Given the description of an element on the screen output the (x, y) to click on. 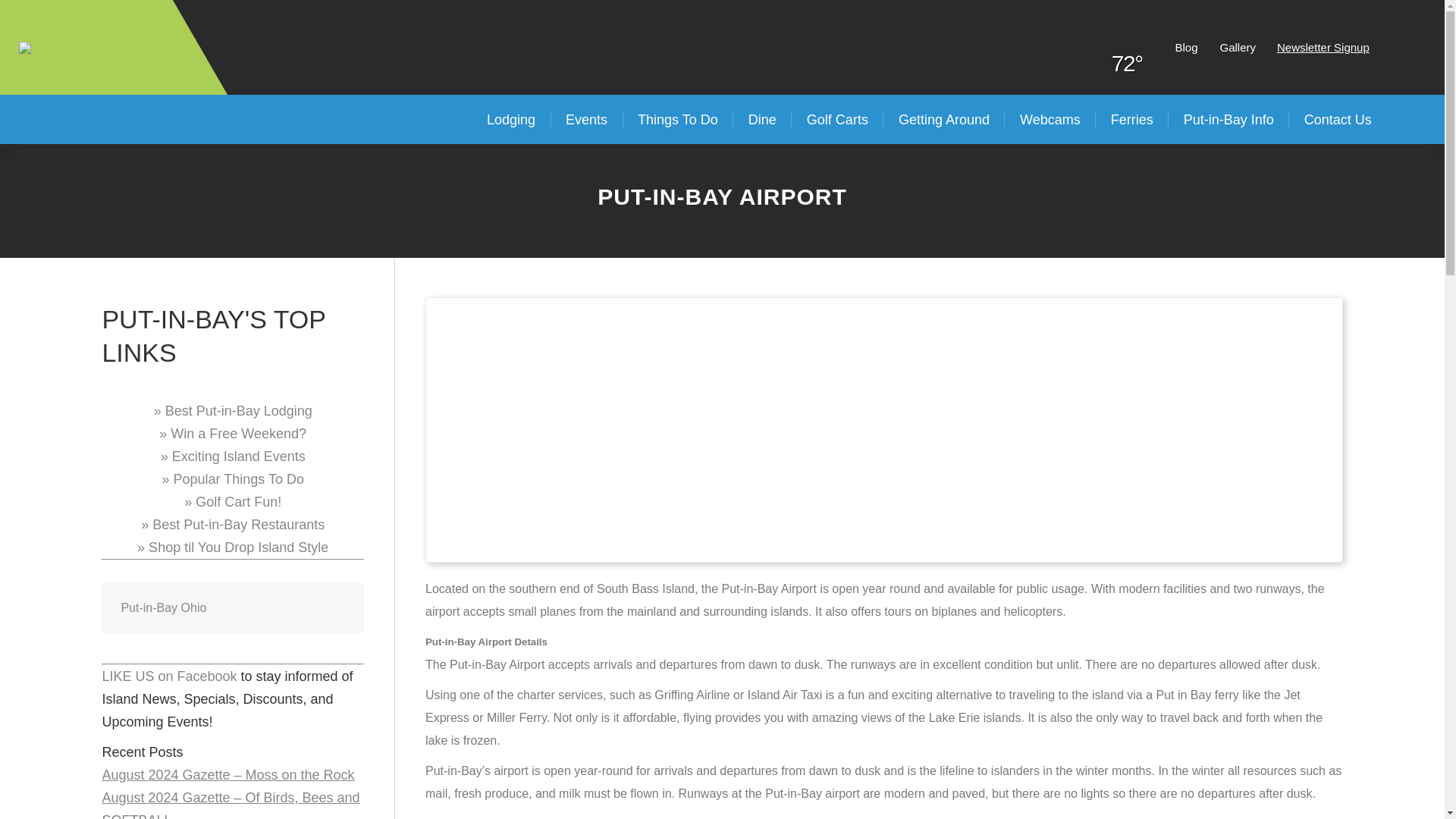
Getting Around (943, 119)
Things To Do (678, 119)
Dine (762, 119)
Newsletter Signup (1323, 47)
Lodging (510, 119)
Gallery (1238, 47)
Golf Carts (837, 119)
Blog (1185, 47)
Ferries (1132, 119)
